Given the description of an element on the screen output the (x, y) to click on. 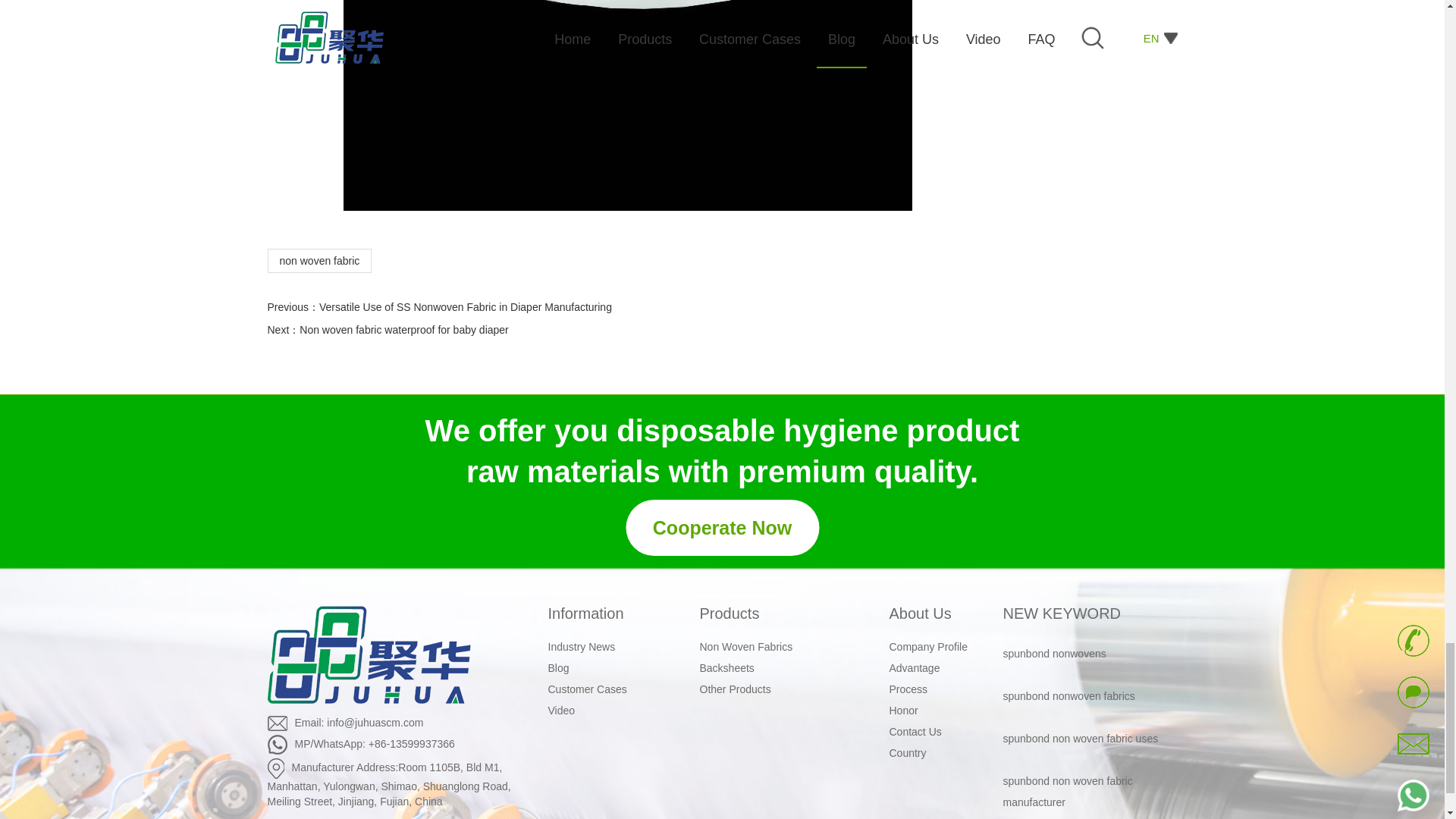
non woven fabric (626, 105)
